Given the description of an element on the screen output the (x, y) to click on. 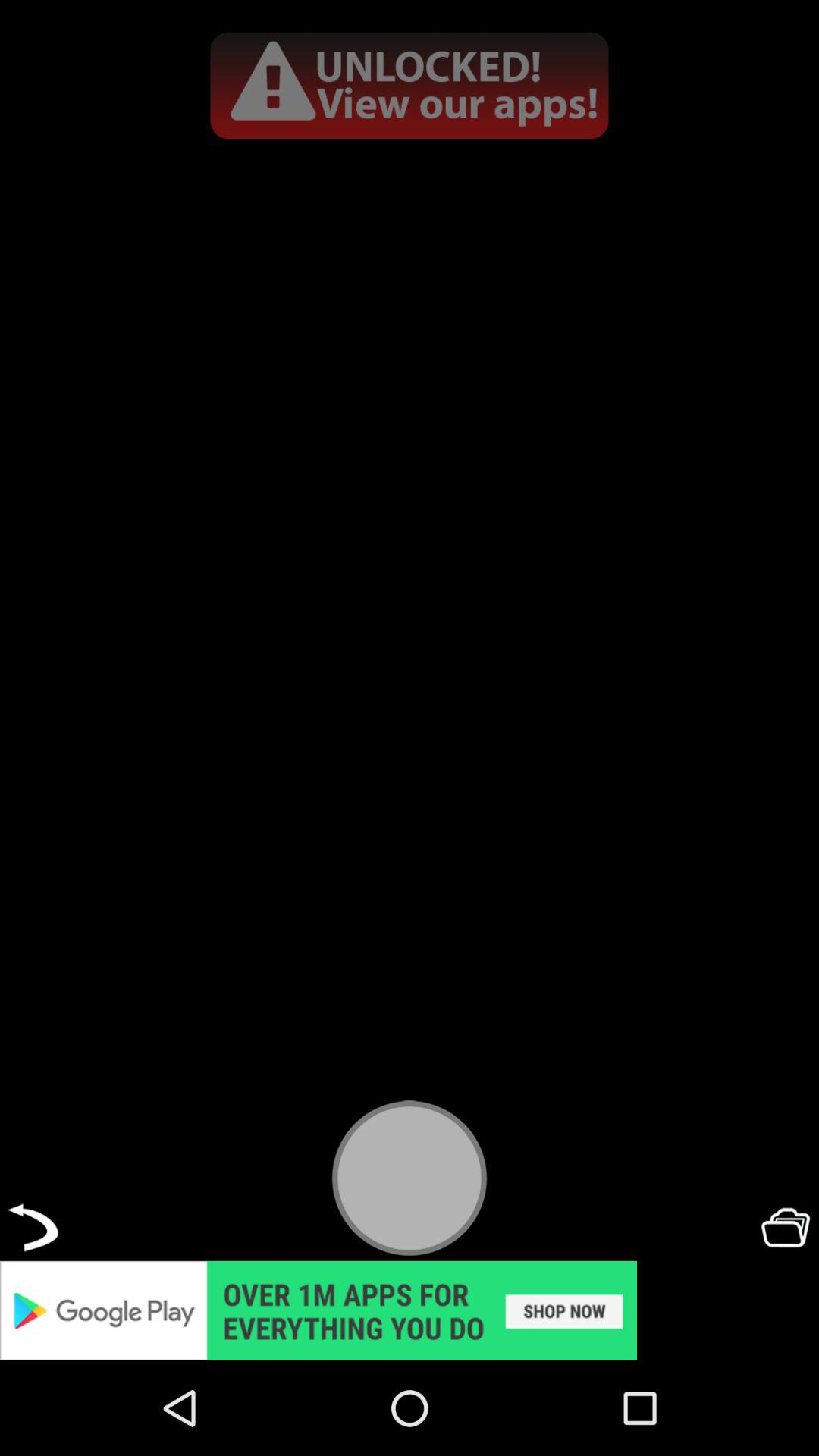
click to view apps (409, 85)
